Given the description of an element on the screen output the (x, y) to click on. 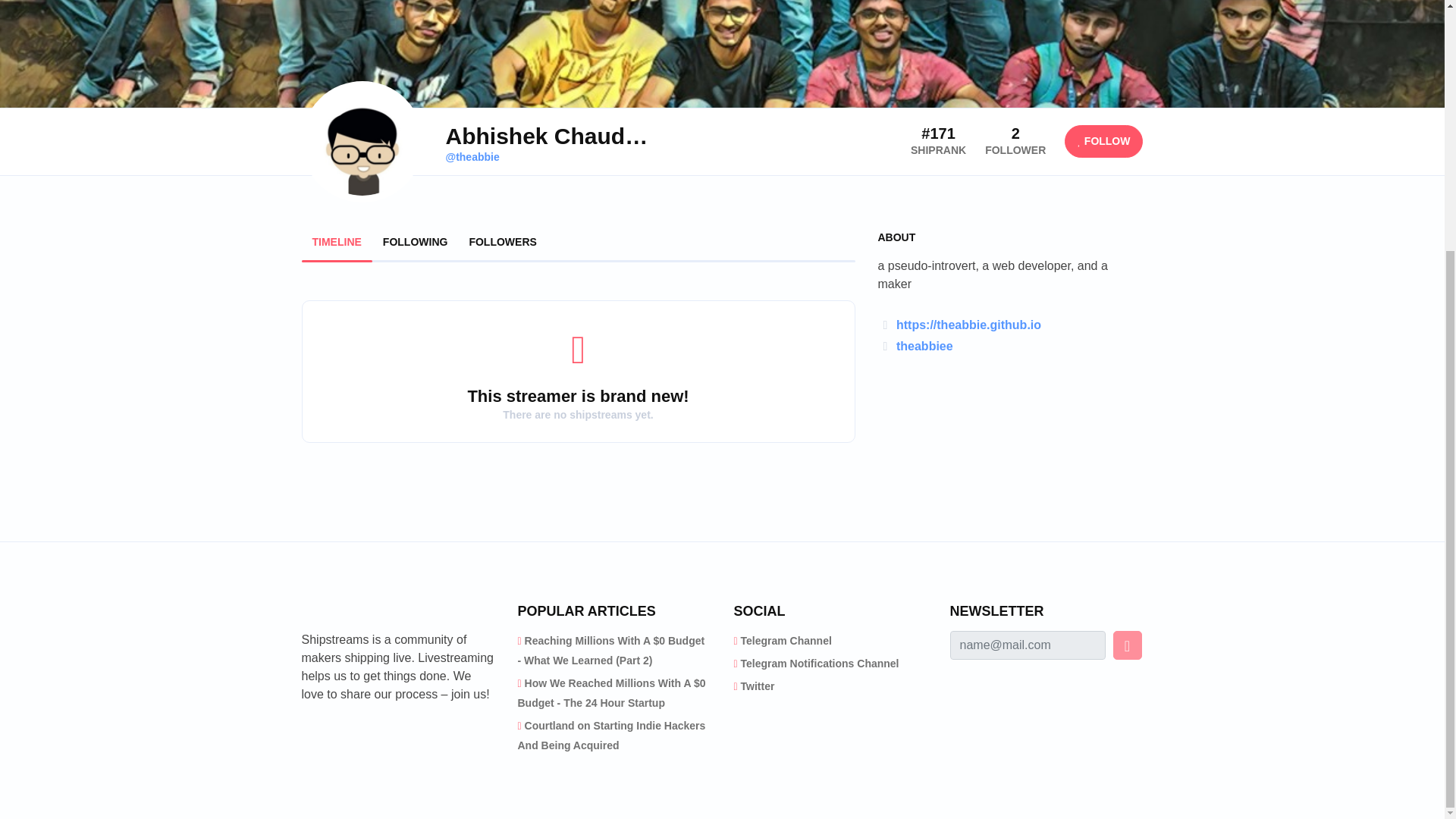
Twitter (757, 686)
FOLLOWERS (501, 241)
Courtland on Starting Indie Hackers And Being Acquired (610, 735)
TIMELINE (337, 241)
FOLLOW (1103, 141)
theabbiee (924, 345)
FOLLOWING (415, 241)
Telegram Notifications Channel (820, 663)
Telegram Channel (786, 640)
